Given the description of an element on the screen output the (x, y) to click on. 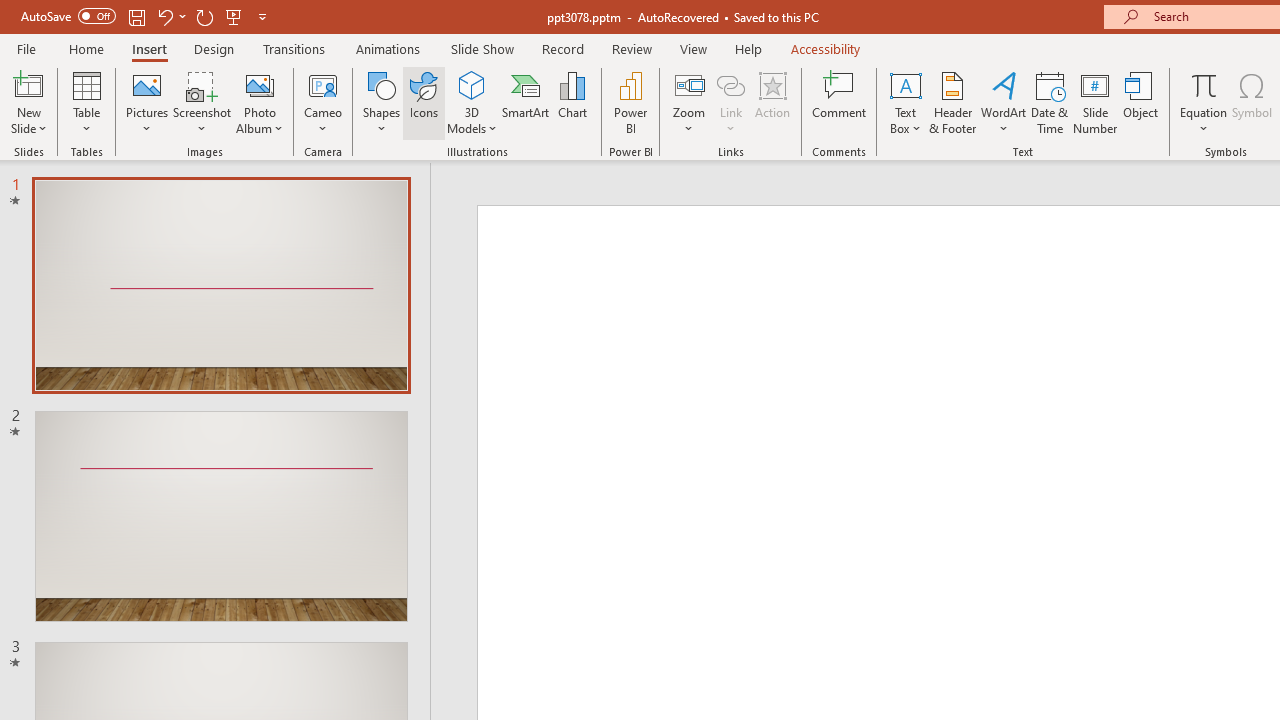
Action (772, 102)
Draw Horizontal Text Box (905, 84)
3D Models (472, 84)
Screenshot (202, 102)
Object... (1141, 102)
Table (86, 102)
Equation (1203, 84)
Link (731, 84)
Chart... (572, 102)
